Given the description of an element on the screen output the (x, y) to click on. 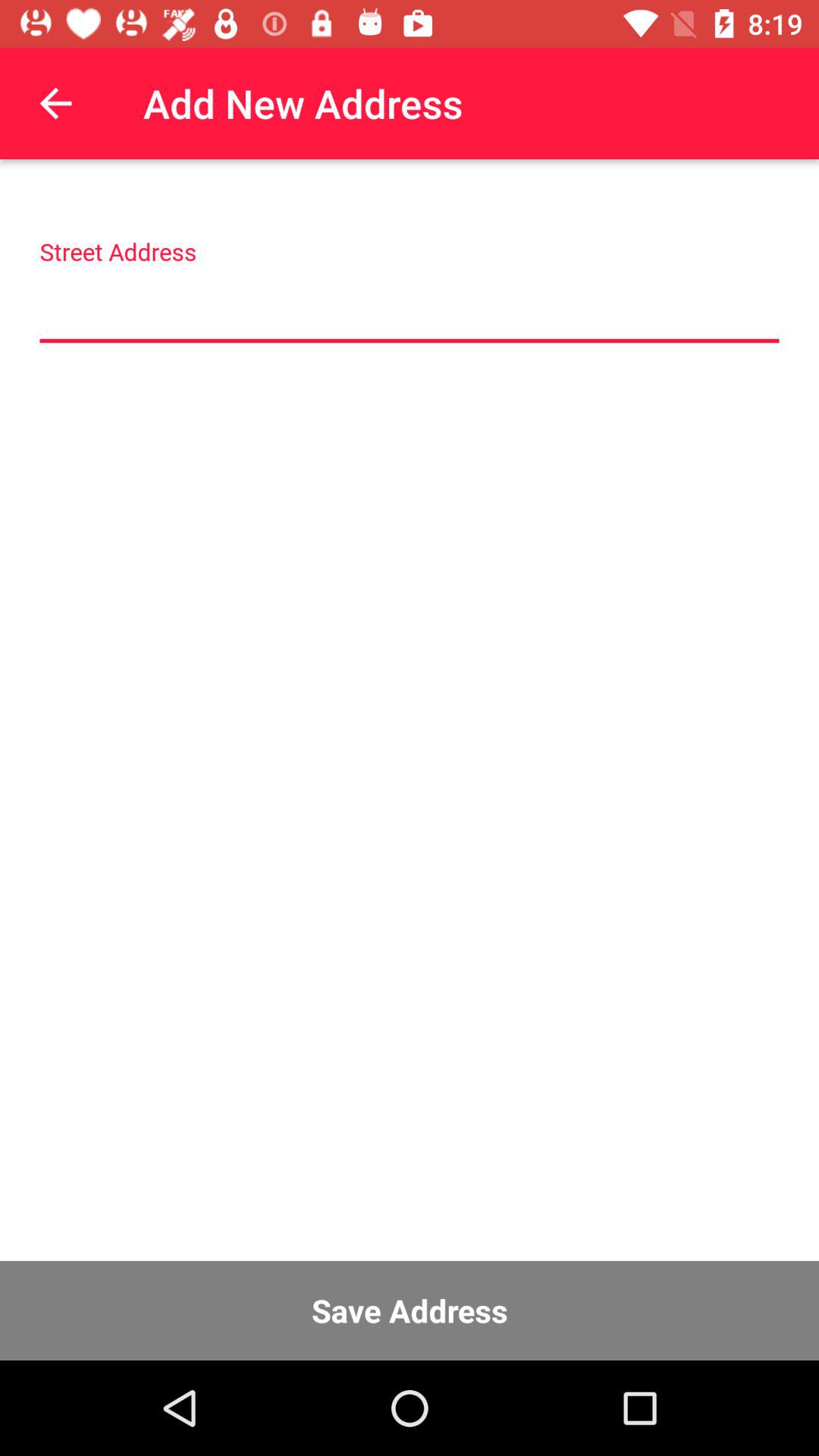
type in your address (409, 308)
